Given the description of an element on the screen output the (x, y) to click on. 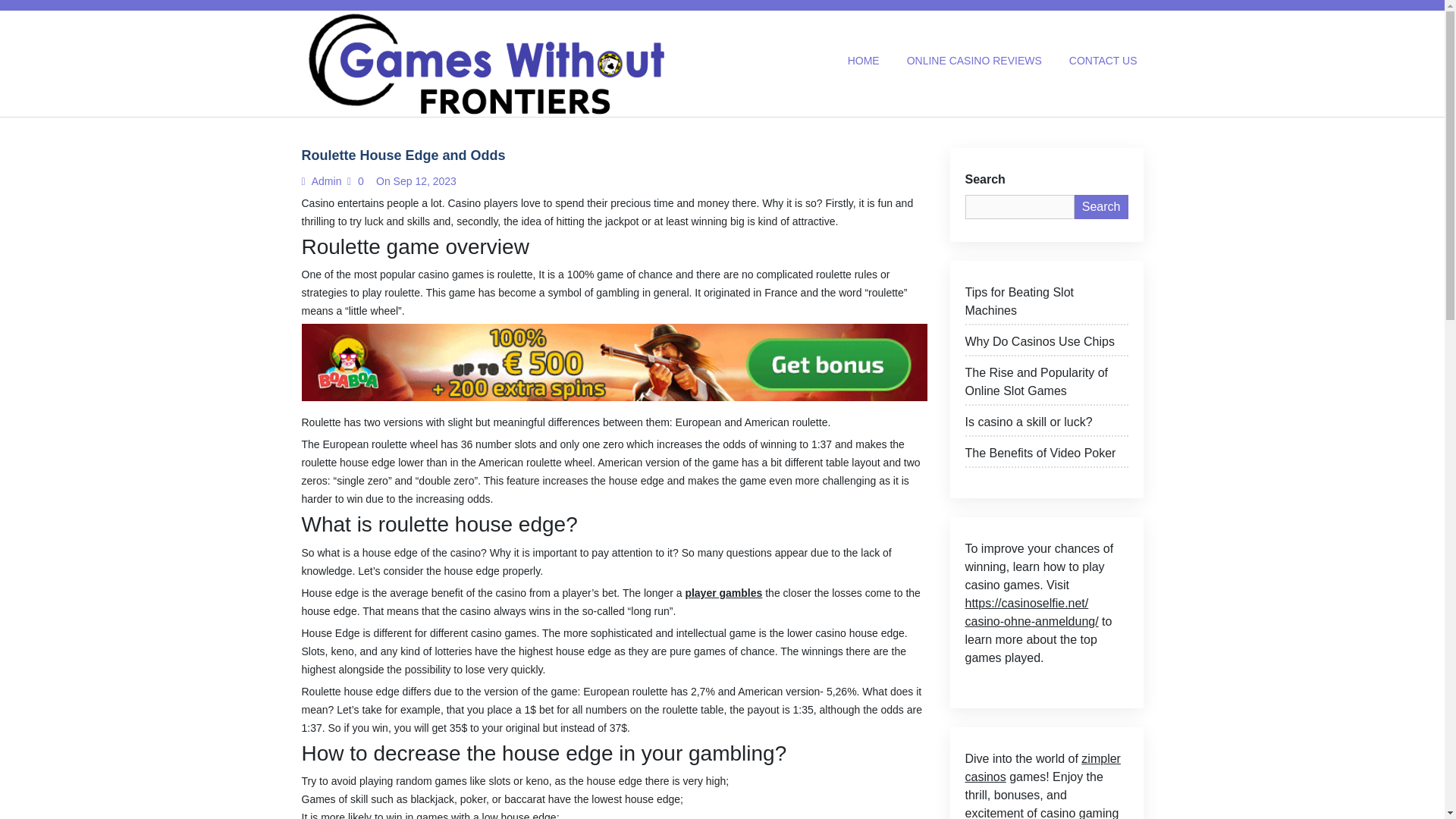
CONTACT US (1102, 60)
The Benefits of Video Poker (1044, 455)
Is casino a skill or luck? (1044, 424)
The Rise and Popularity of Online Slot Games (1044, 384)
ONLINE CASINO REVIEWS (974, 60)
Tips for Beating Slot Machines (1044, 304)
Why Do Casinos Use Chips (1044, 344)
Search (1101, 206)
Admin (325, 181)
zimpler casinos (1041, 767)
HOME (863, 60)
player gambles (722, 592)
